Given the description of an element on the screen output the (x, y) to click on. 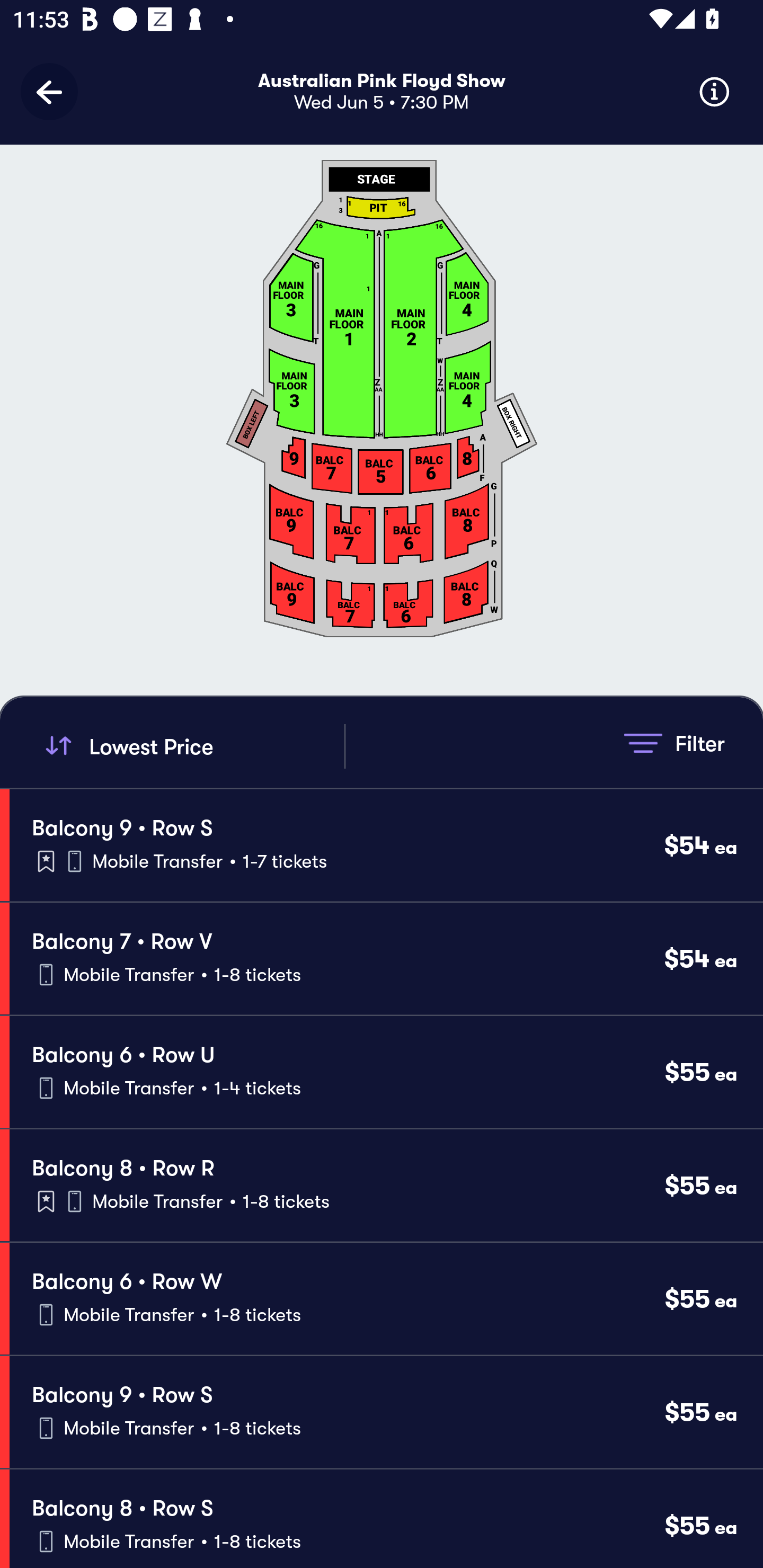
Lowest Price (191, 746)
Filter (674, 743)
